Given the description of an element on the screen output the (x, y) to click on. 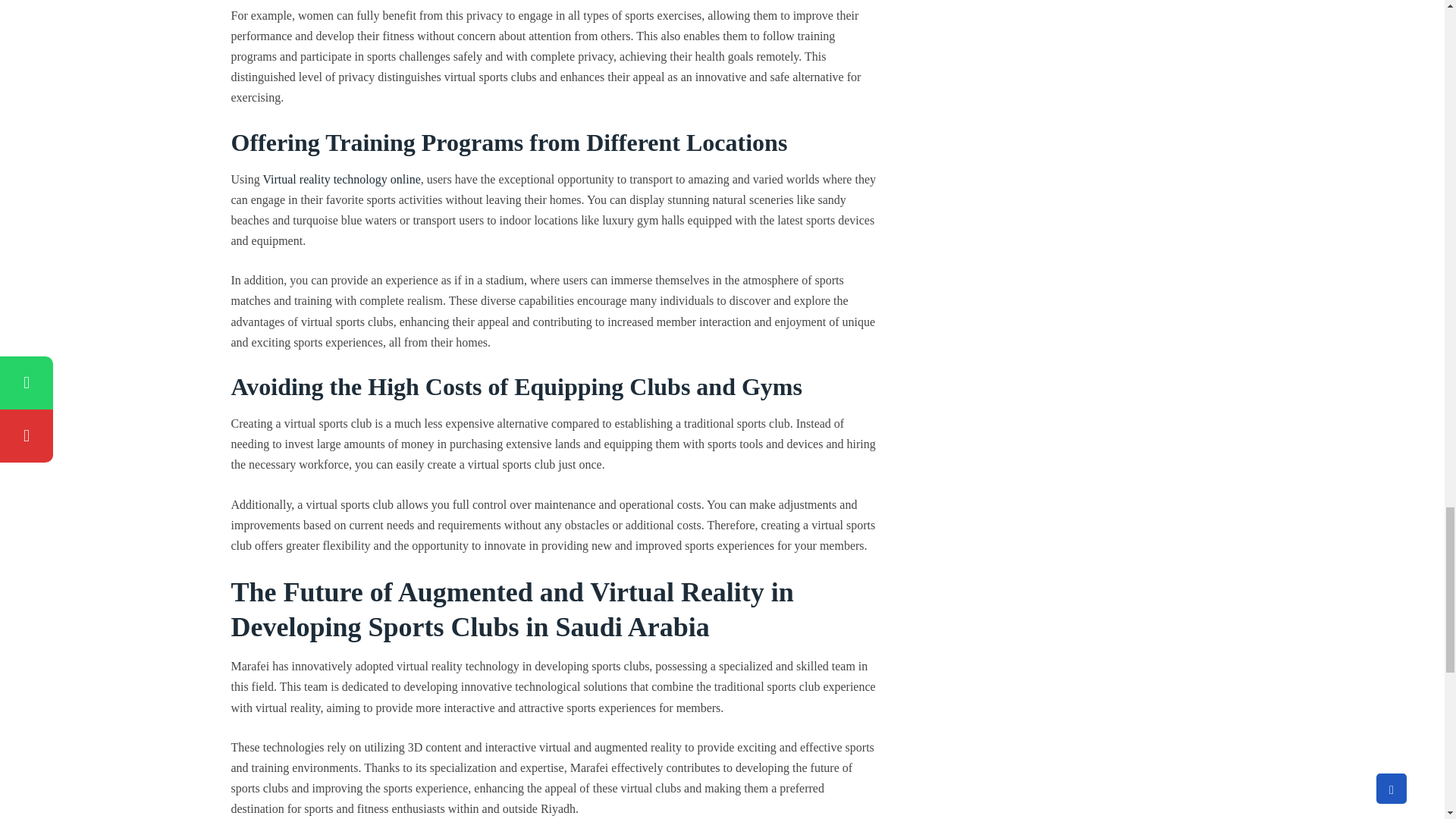
Virtual reality technology online (341, 178)
